Given the description of an element on the screen output the (x, y) to click on. 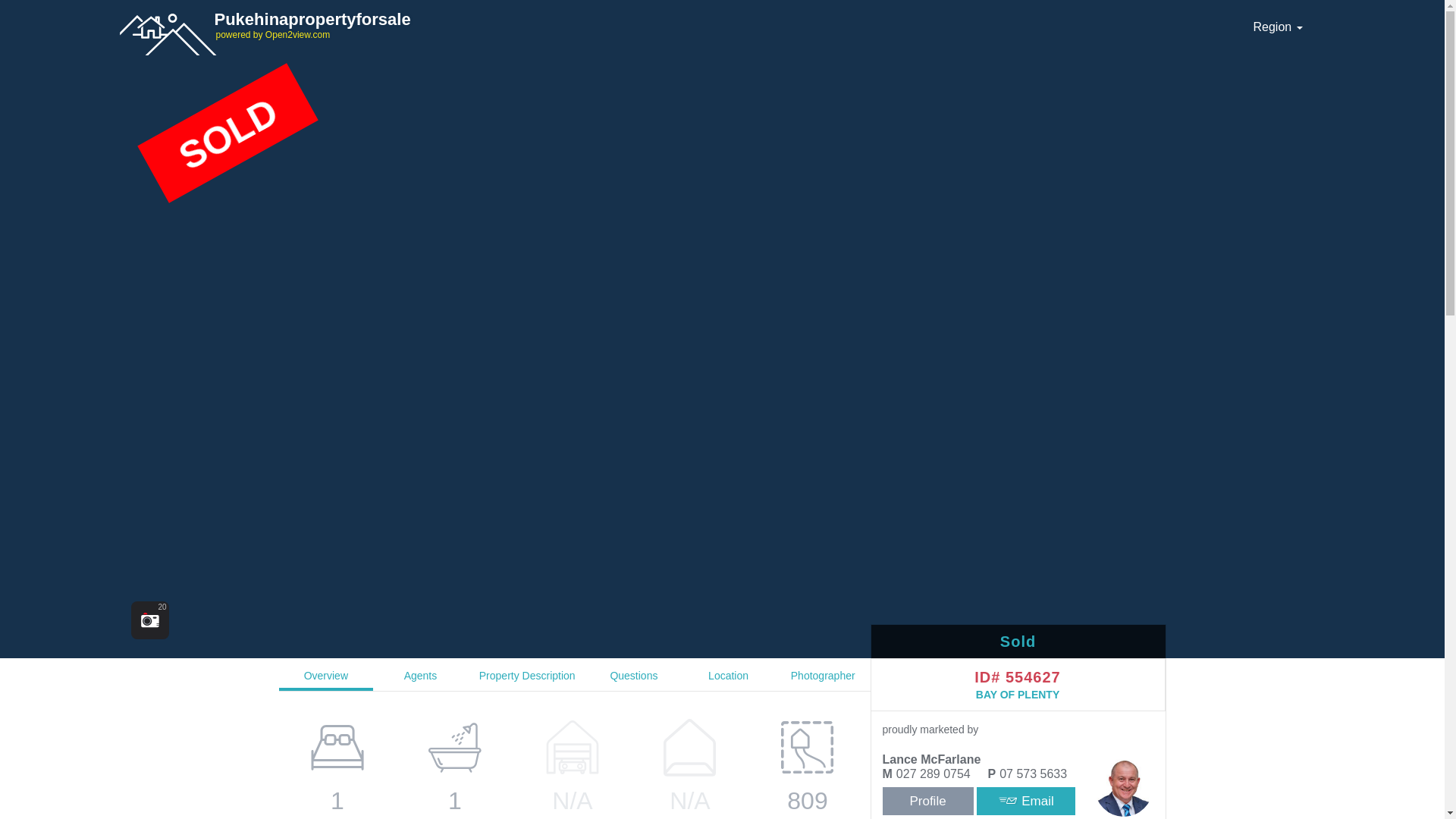
Pukehinapropertyforsale (676, 24)
